Given the description of an element on the screen output the (x, y) to click on. 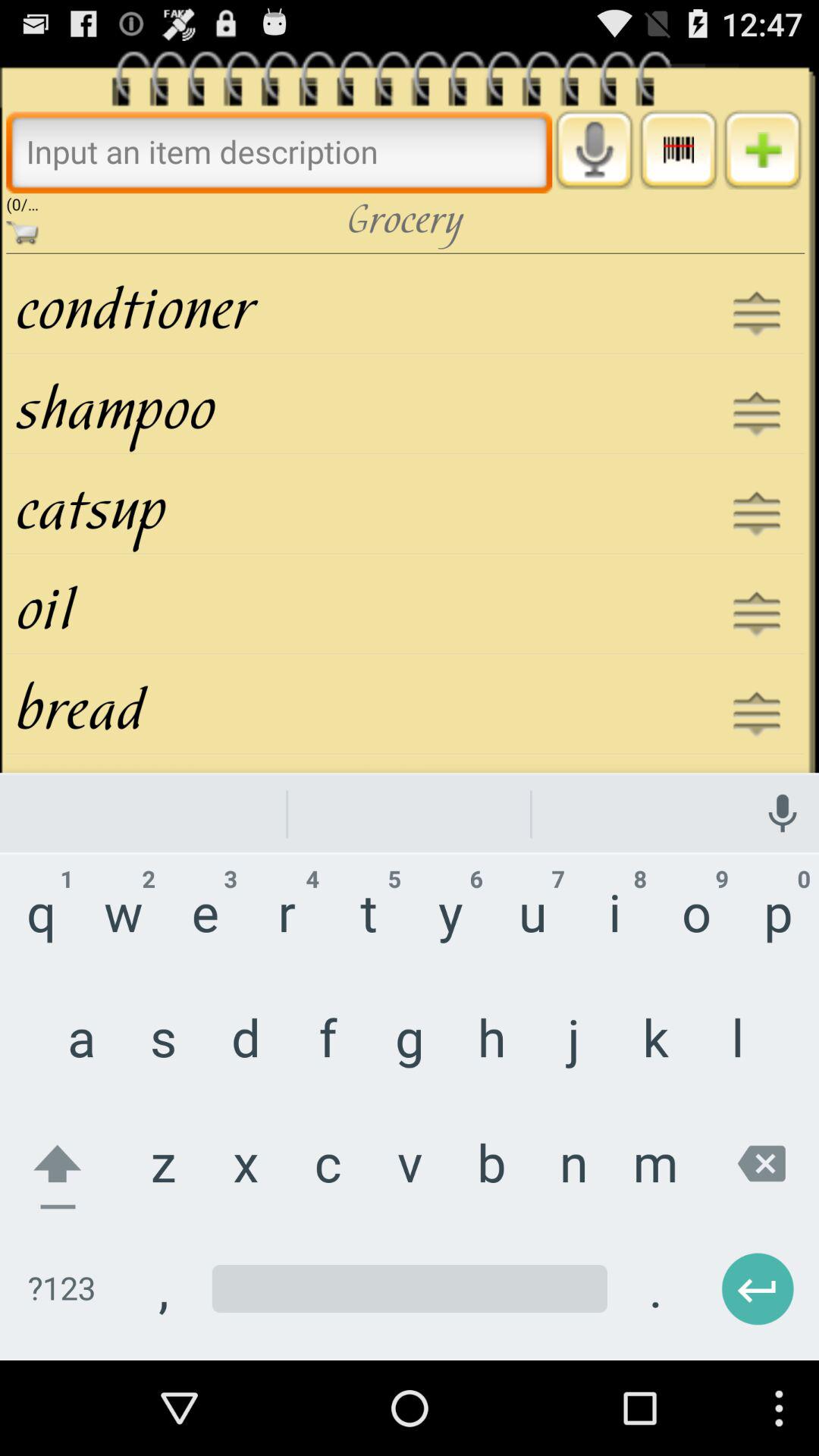
search bar (279, 151)
